Given the description of an element on the screen output the (x, y) to click on. 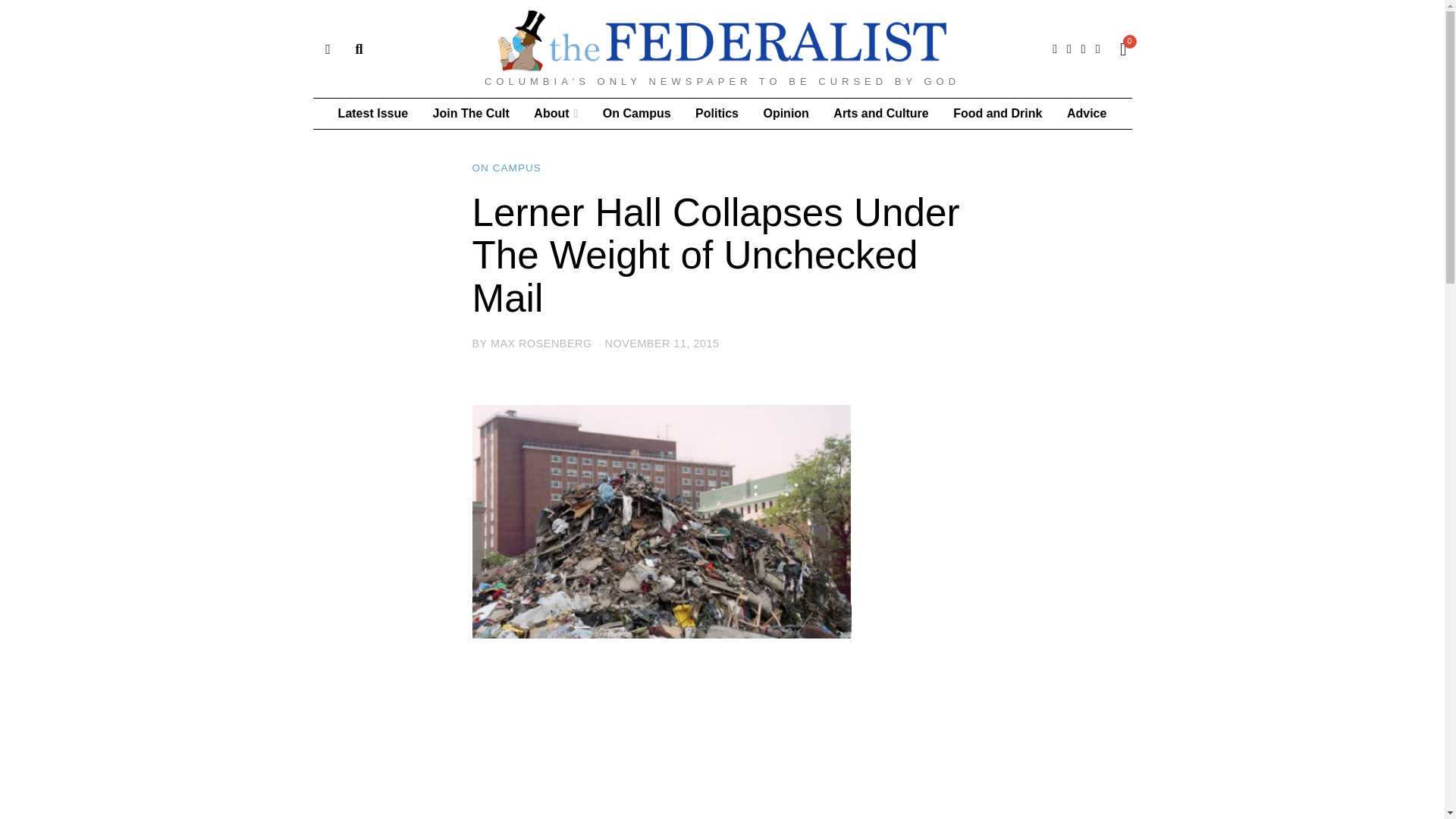
Posts by Max Rosenberg (541, 343)
Arts and Culture (880, 113)
About (555, 113)
Opinion (785, 113)
On Campus (636, 113)
Politics (716, 113)
MAX ROSENBERG (541, 343)
Latest Issue (373, 113)
Food and Drink (997, 113)
Join The Cult (470, 113)
ON CAMPUS (505, 168)
Advice (1086, 113)
0 (1118, 48)
